Given the description of an element on the screen output the (x, y) to click on. 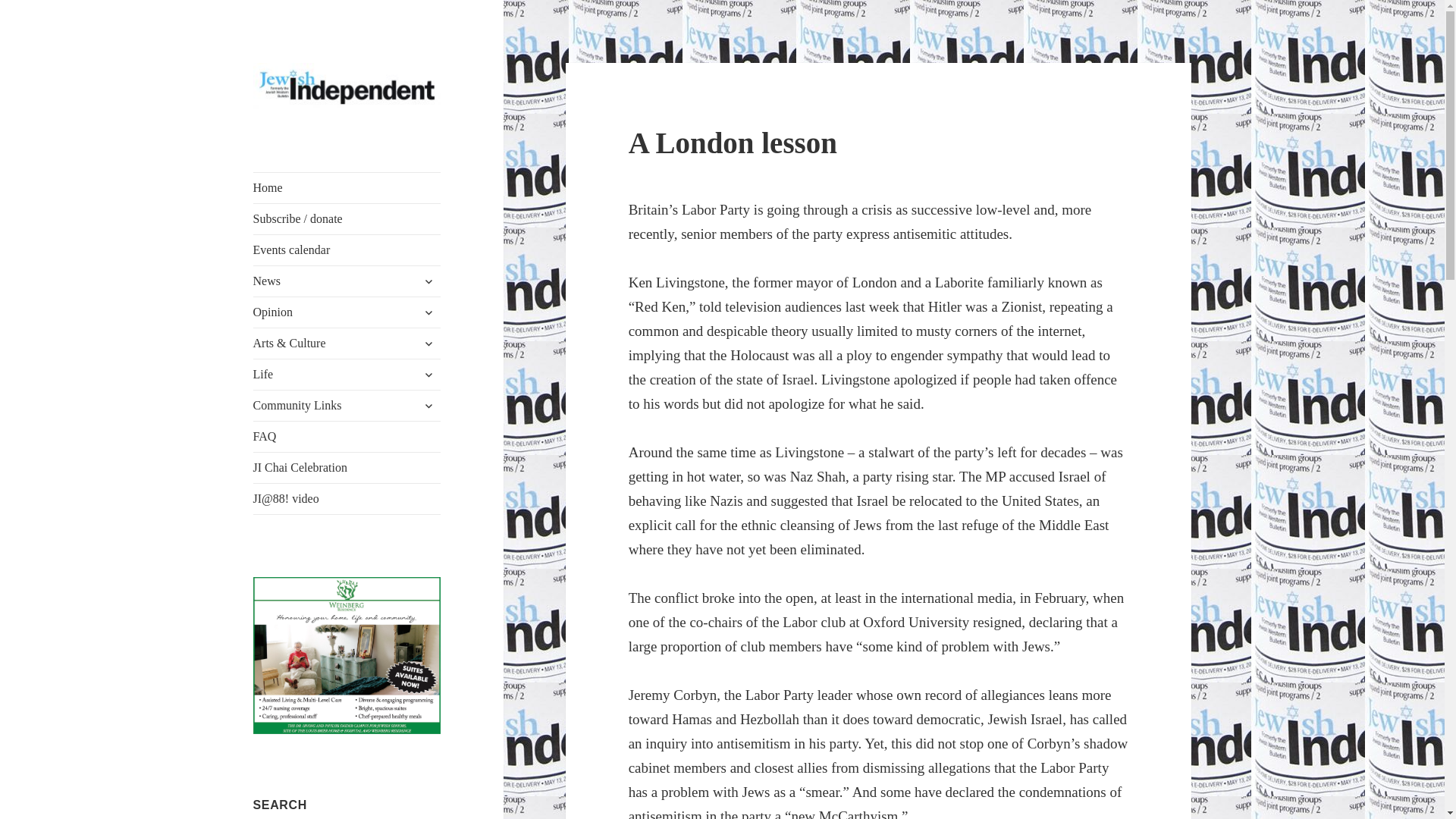
JI Chai Celebration (347, 467)
expand child menu (428, 281)
expand child menu (428, 405)
News (347, 281)
expand child menu (428, 374)
FAQ (347, 436)
expand child menu (428, 312)
Opinion (347, 312)
Events calendar (347, 250)
Life (347, 374)
